Given the description of an element on the screen output the (x, y) to click on. 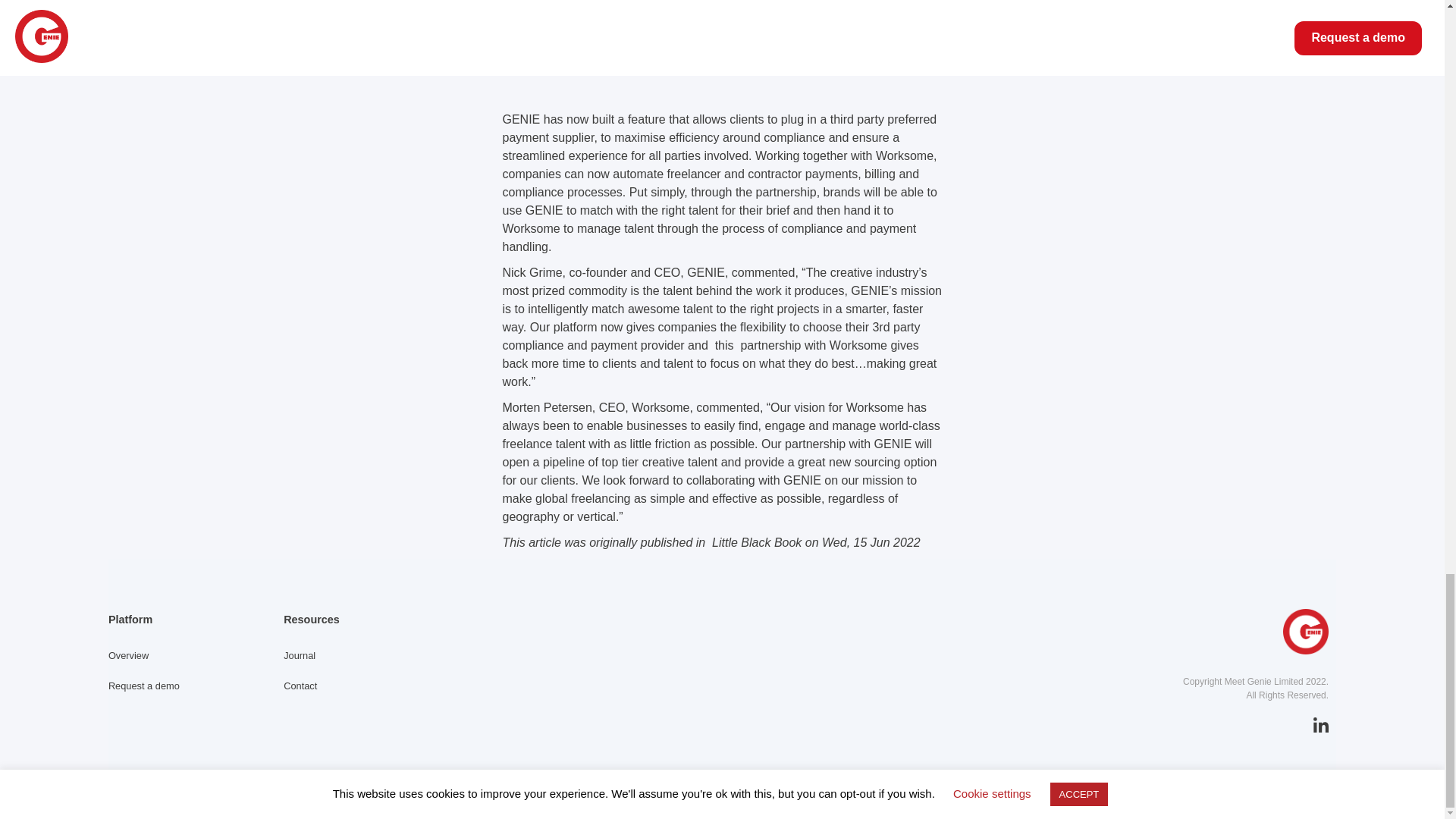
Cookie Policy (1017, 797)
Request a demo (143, 685)
Journal (299, 655)
Overview (127, 655)
Privacy Policy (944, 797)
Contact (300, 685)
Equality Policy (870, 797)
